Given the description of an element on the screen output the (x, y) to click on. 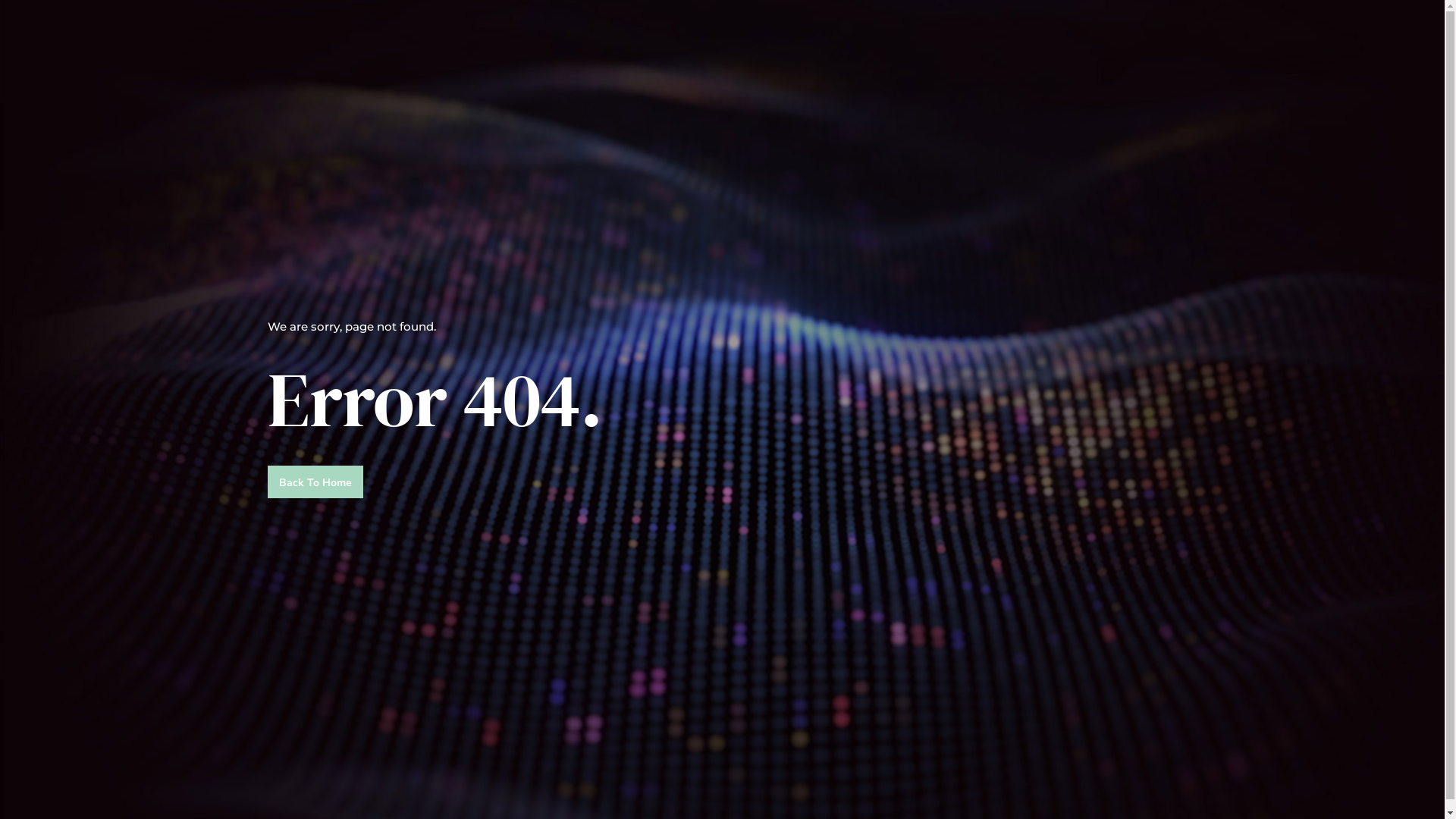
Back To Home Element type: text (314, 481)
